Given the description of an element on the screen output the (x, y) to click on. 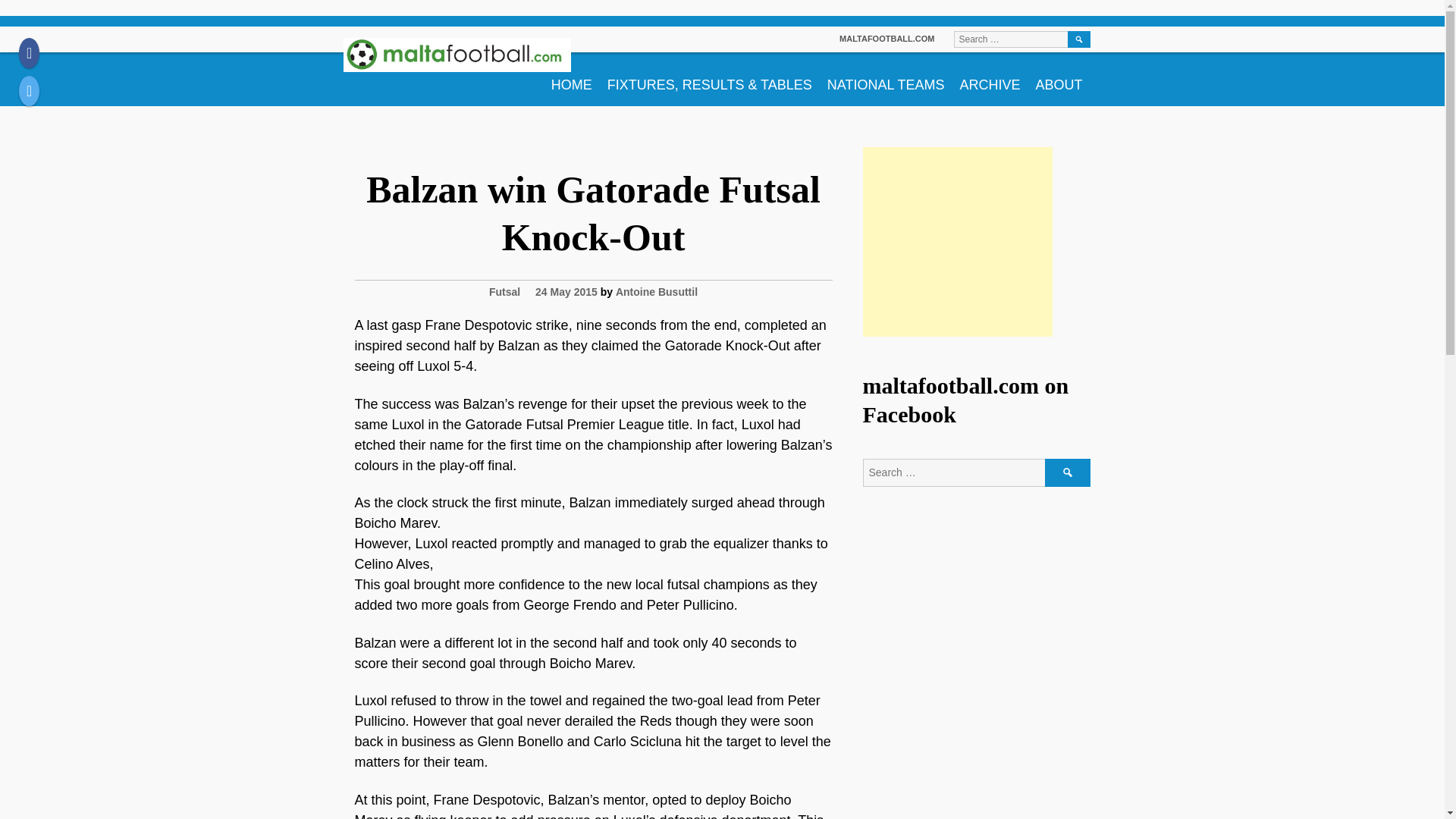
MALTAFOOTBALL.COM (887, 38)
ARCHIVE (989, 79)
HOME (571, 79)
NATIONAL TEAMS (885, 79)
Search (1078, 39)
